Given the description of an element on the screen output the (x, y) to click on. 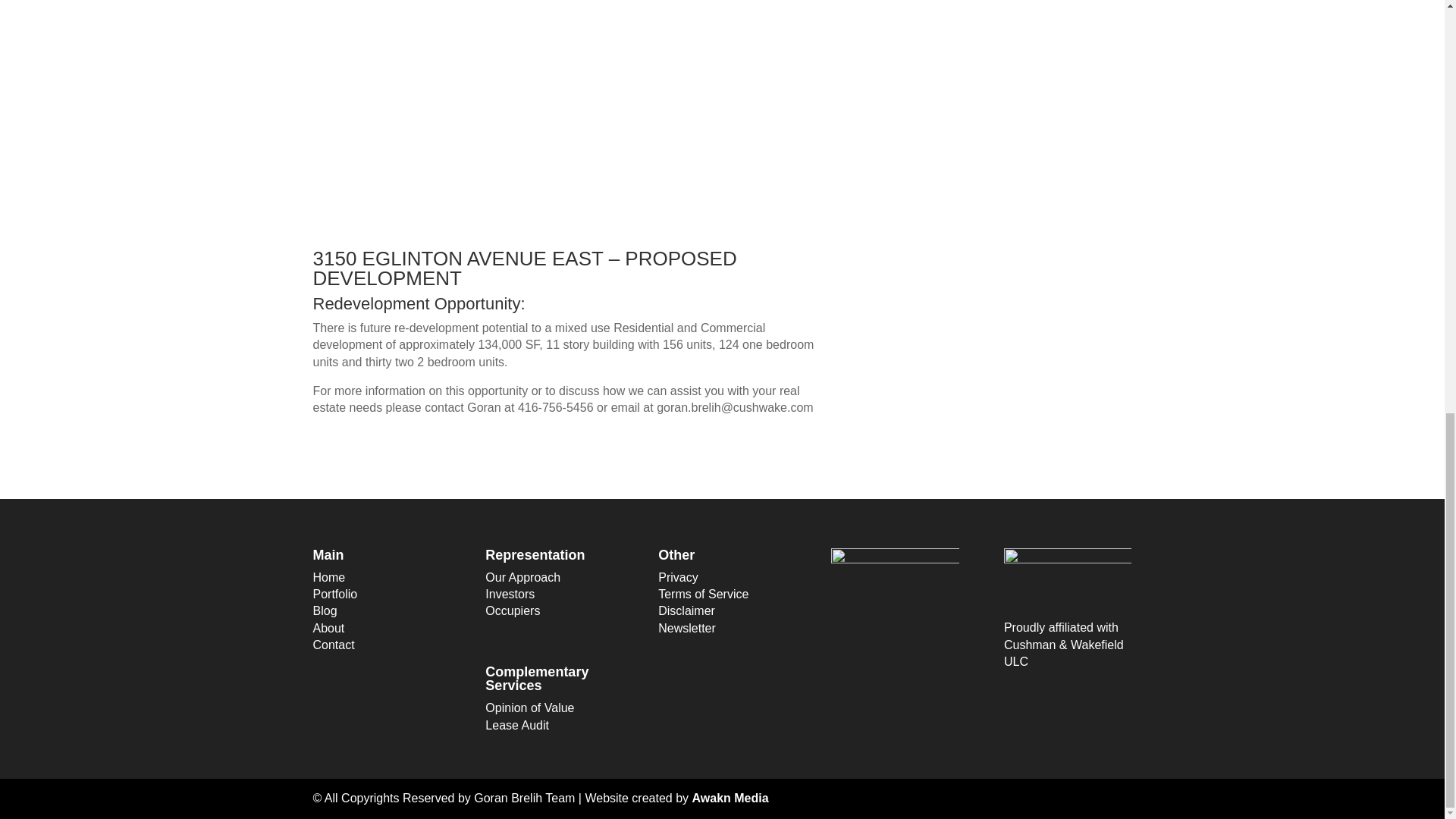
About (328, 627)
Investors (509, 594)
Lease Audit (516, 725)
Disclaimer (686, 610)
Privacy (677, 576)
Home (329, 576)
Terms of Service (703, 594)
Occupiers (512, 610)
Contact (333, 644)
Newsletter (687, 627)
